Given the description of an element on the screen output the (x, y) to click on. 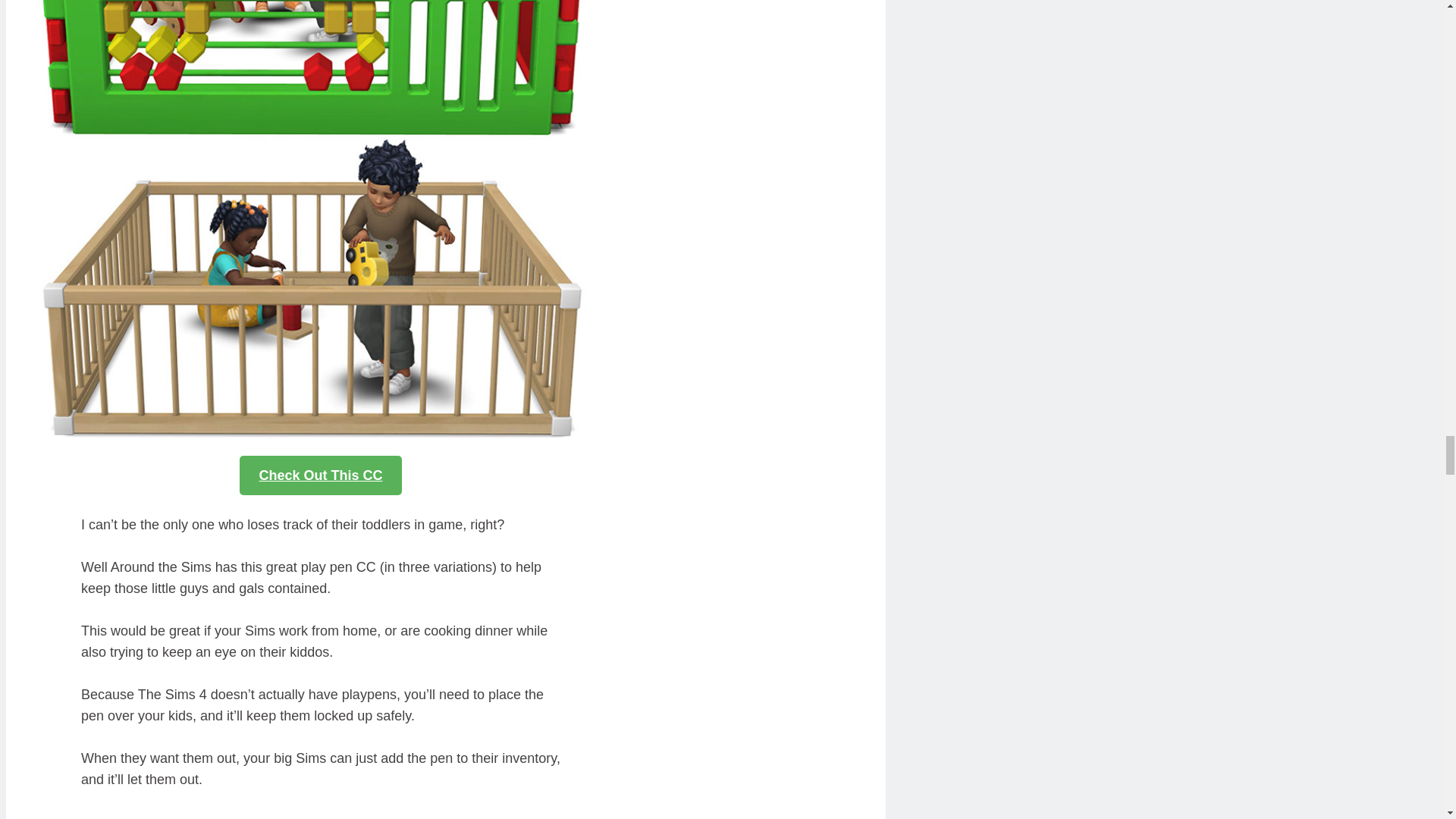
Check Out This CC (320, 475)
